Given the description of an element on the screen output the (x, y) to click on. 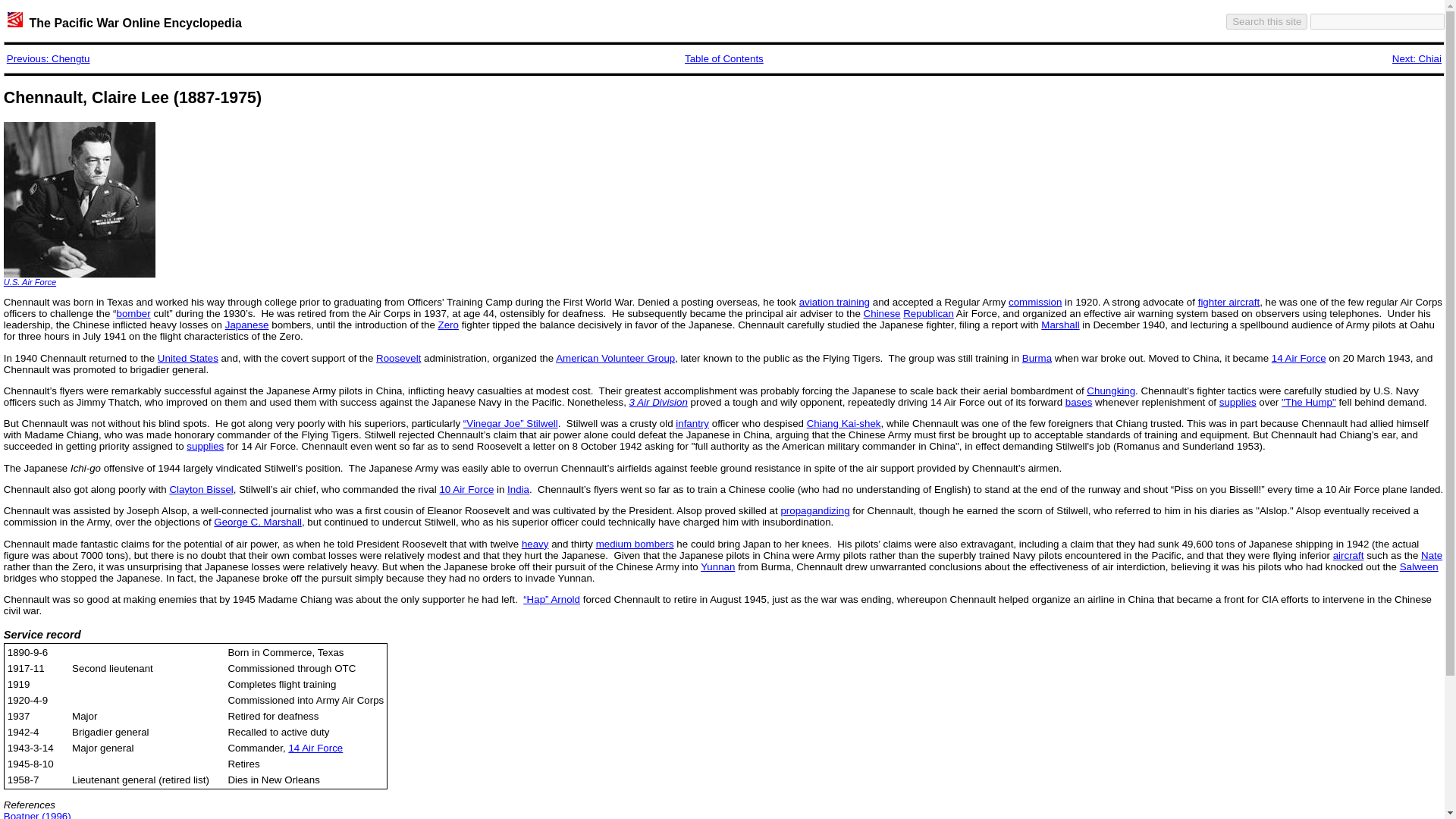
supplies (1238, 401)
Clayton Bissel (200, 489)
Burma (1036, 357)
aircraft (1348, 555)
aviation training (834, 301)
heavy (534, 543)
Chungking (1110, 390)
Salween (1418, 566)
Search this site (1266, 21)
14 Air Force (1298, 357)
infantry (692, 423)
Next: Chiai (1416, 58)
"The Hump" (1308, 401)
Zero (448, 324)
George C. Marshall (257, 521)
